Given the description of an element on the screen output the (x, y) to click on. 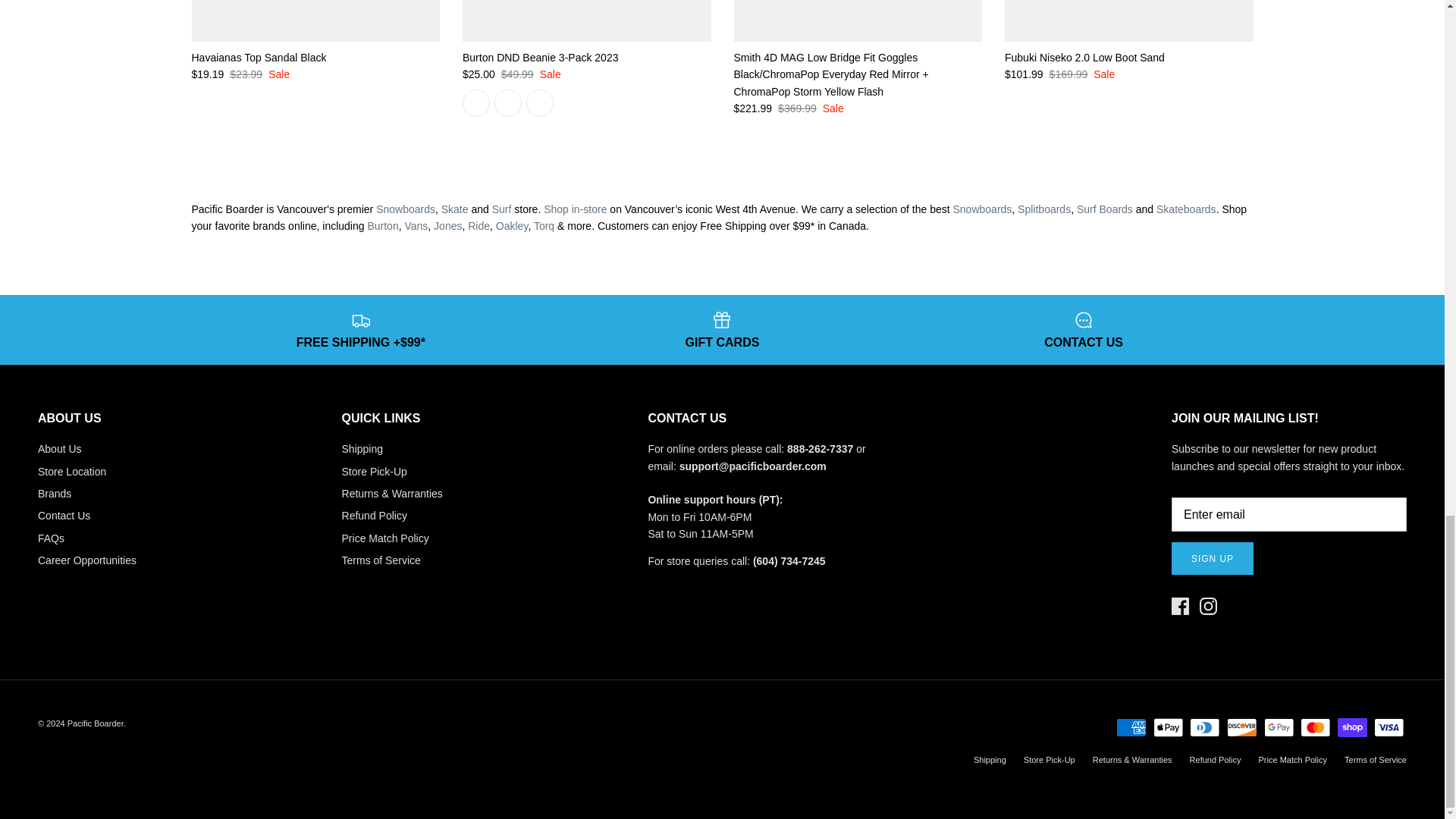
American Express (1130, 727)
Shop Pay (1352, 727)
Instagram (1208, 606)
Facebook (1180, 606)
Mastercard (1315, 727)
Diners Club (1204, 727)
Discover (1241, 727)
Google Pay (1277, 727)
Apple Pay (1168, 727)
tel:888-262-733 (820, 449)
